Given the description of an element on the screen output the (x, y) to click on. 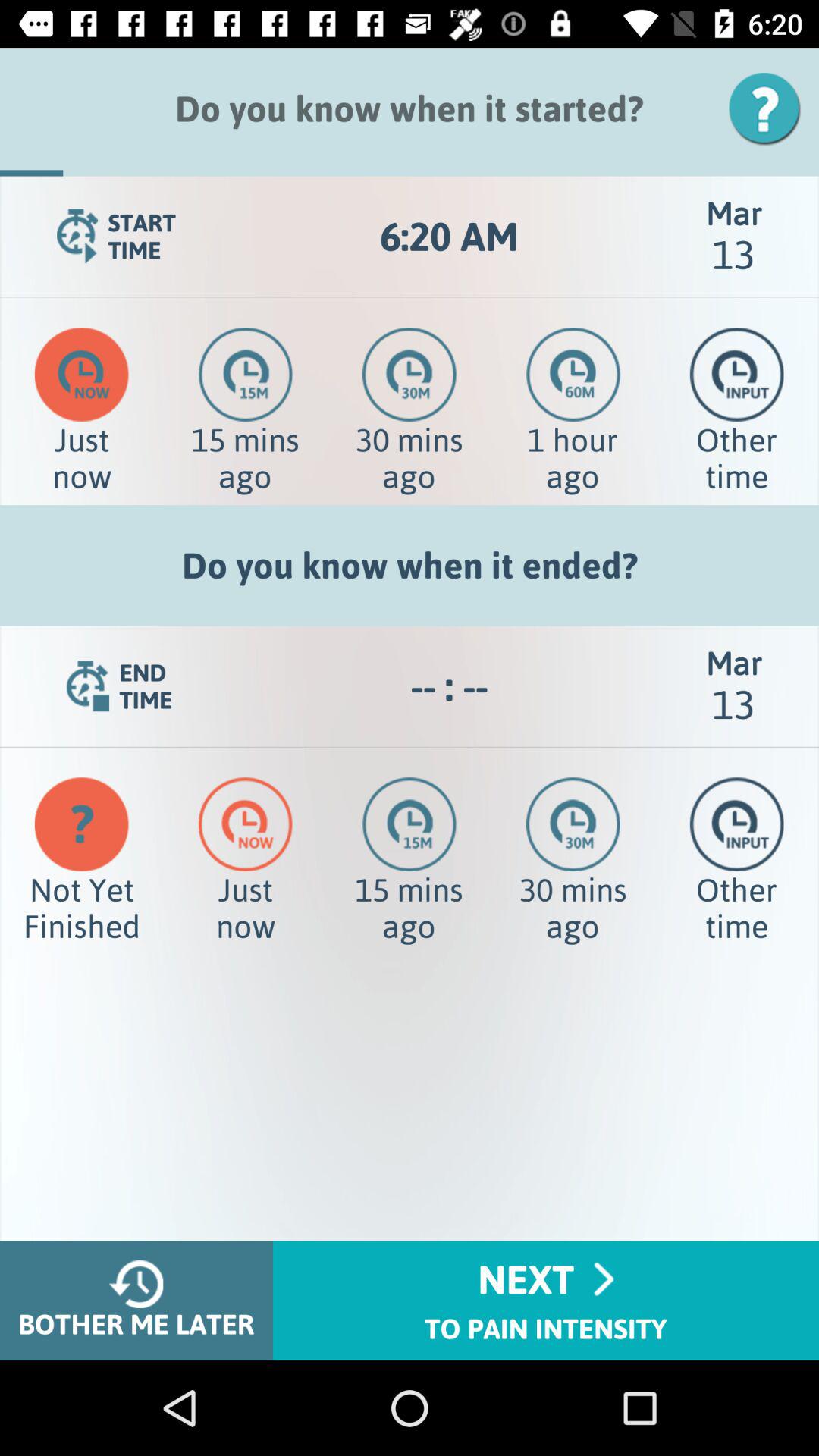
select help (769, 108)
